Given the description of an element on the screen output the (x, y) to click on. 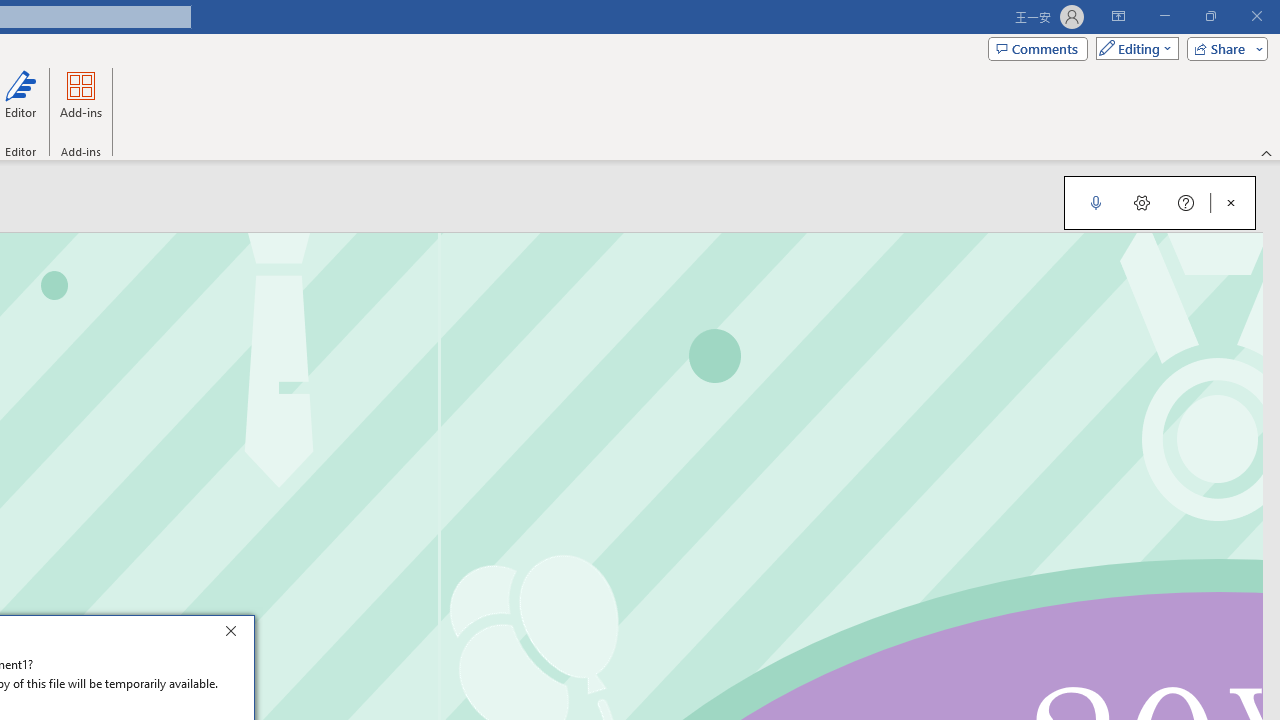
Dictation Settings (1142, 202)
